Given the description of an element on the screen output the (x, y) to click on. 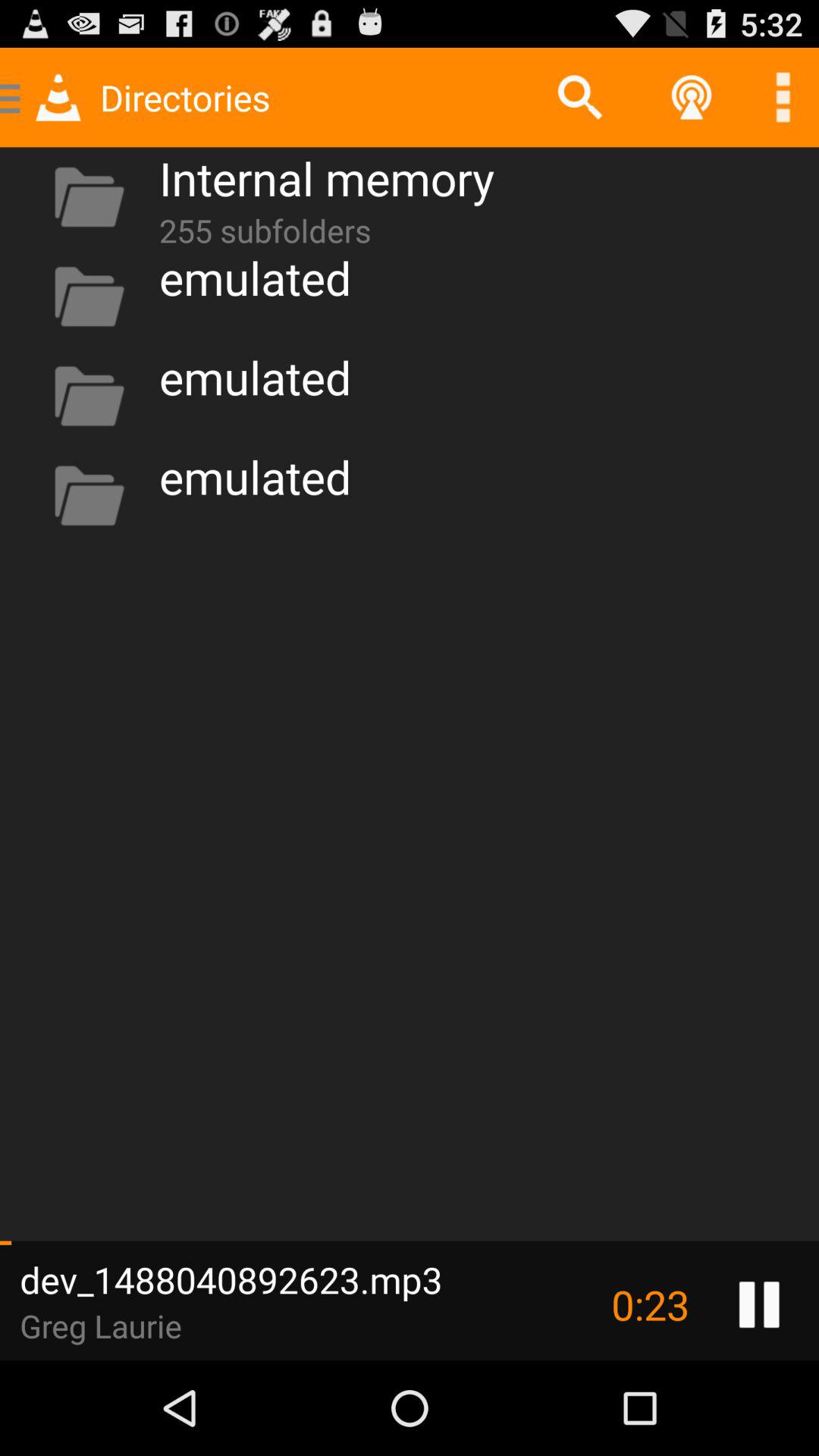
select 0:24 icon (650, 1304)
